Given the description of an element on the screen output the (x, y) to click on. 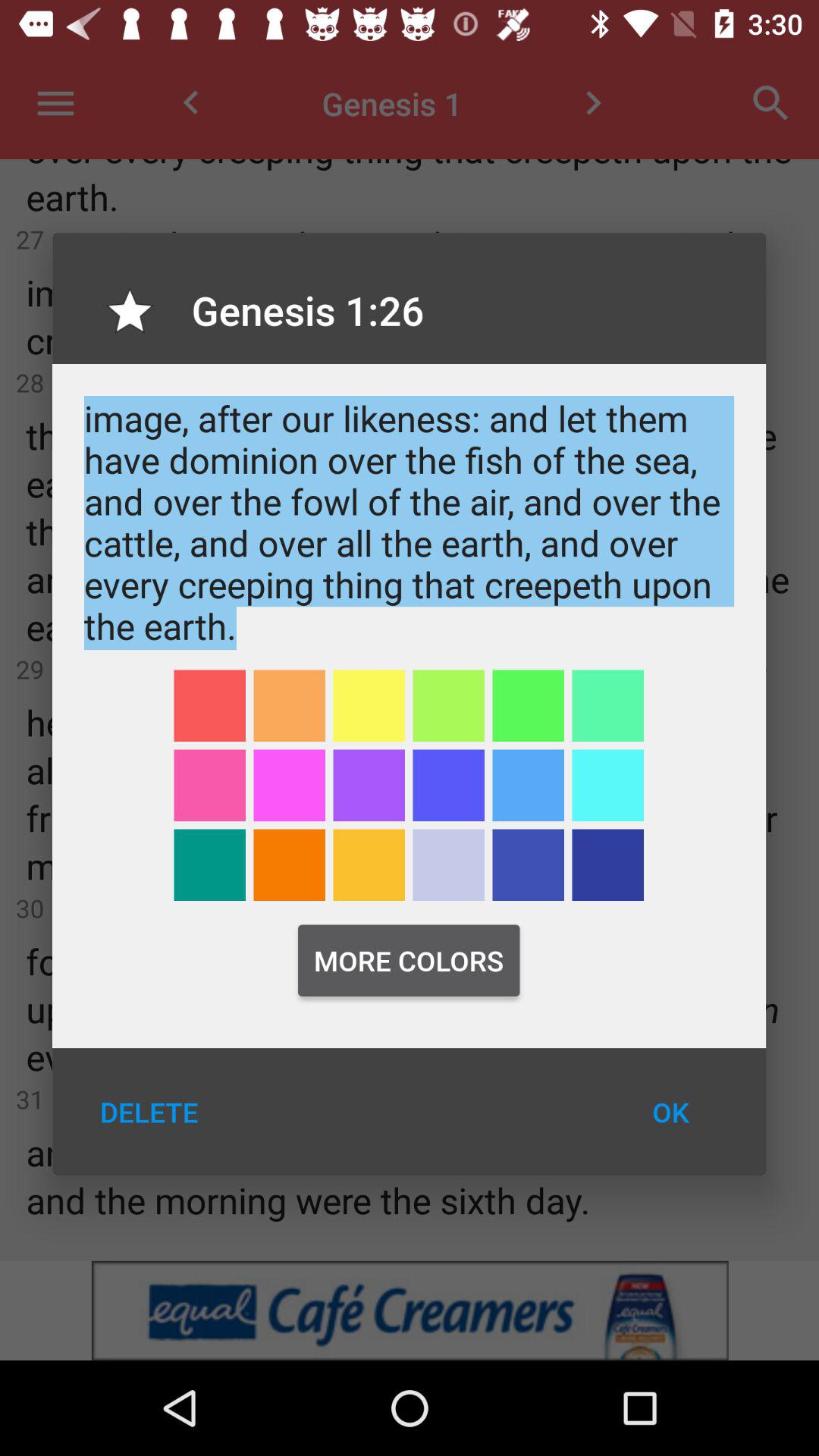
select green color (528, 705)
